Given the description of an element on the screen output the (x, y) to click on. 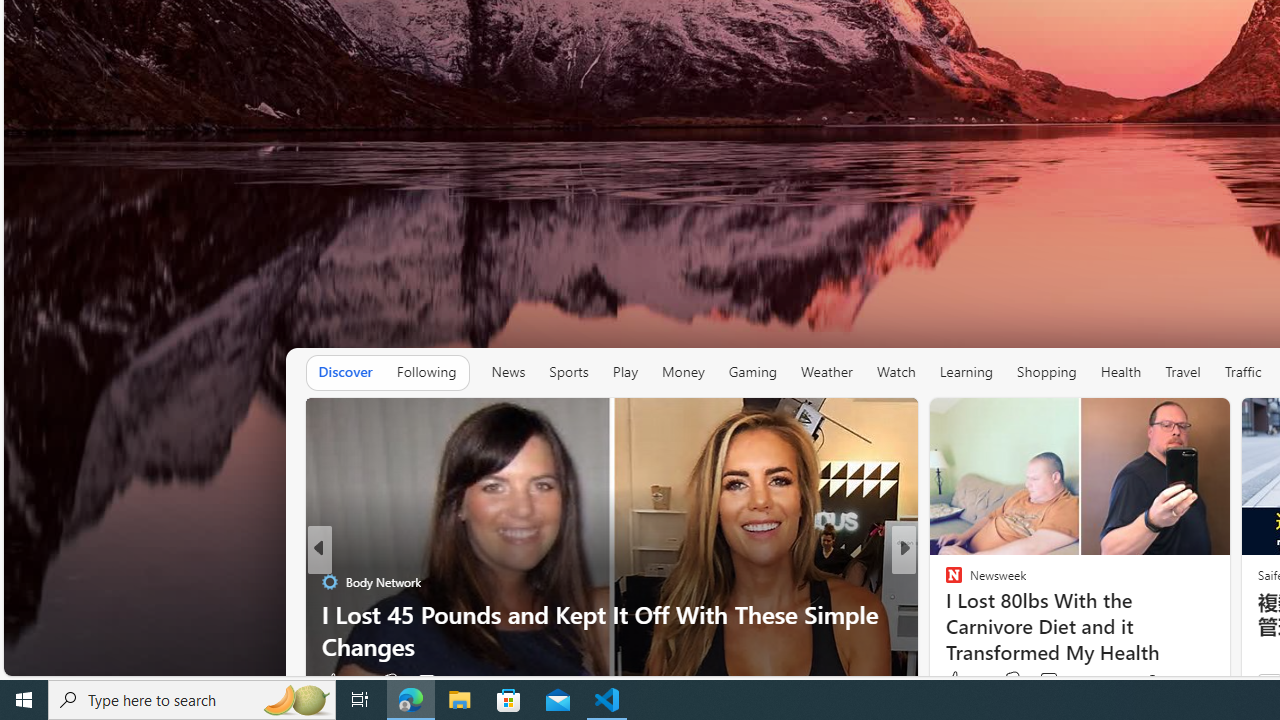
Sports (569, 372)
Play (625, 371)
Travel (1183, 371)
Dislike (1012, 680)
View comments 73 Comment (1057, 680)
Ad Choice (287, 681)
Sports (568, 371)
194 Like (342, 681)
Body Network (329, 581)
You're following Newsweek (1179, 679)
Health (1121, 371)
Watch (896, 372)
Learning (965, 371)
